Given the description of an element on the screen output the (x, y) to click on. 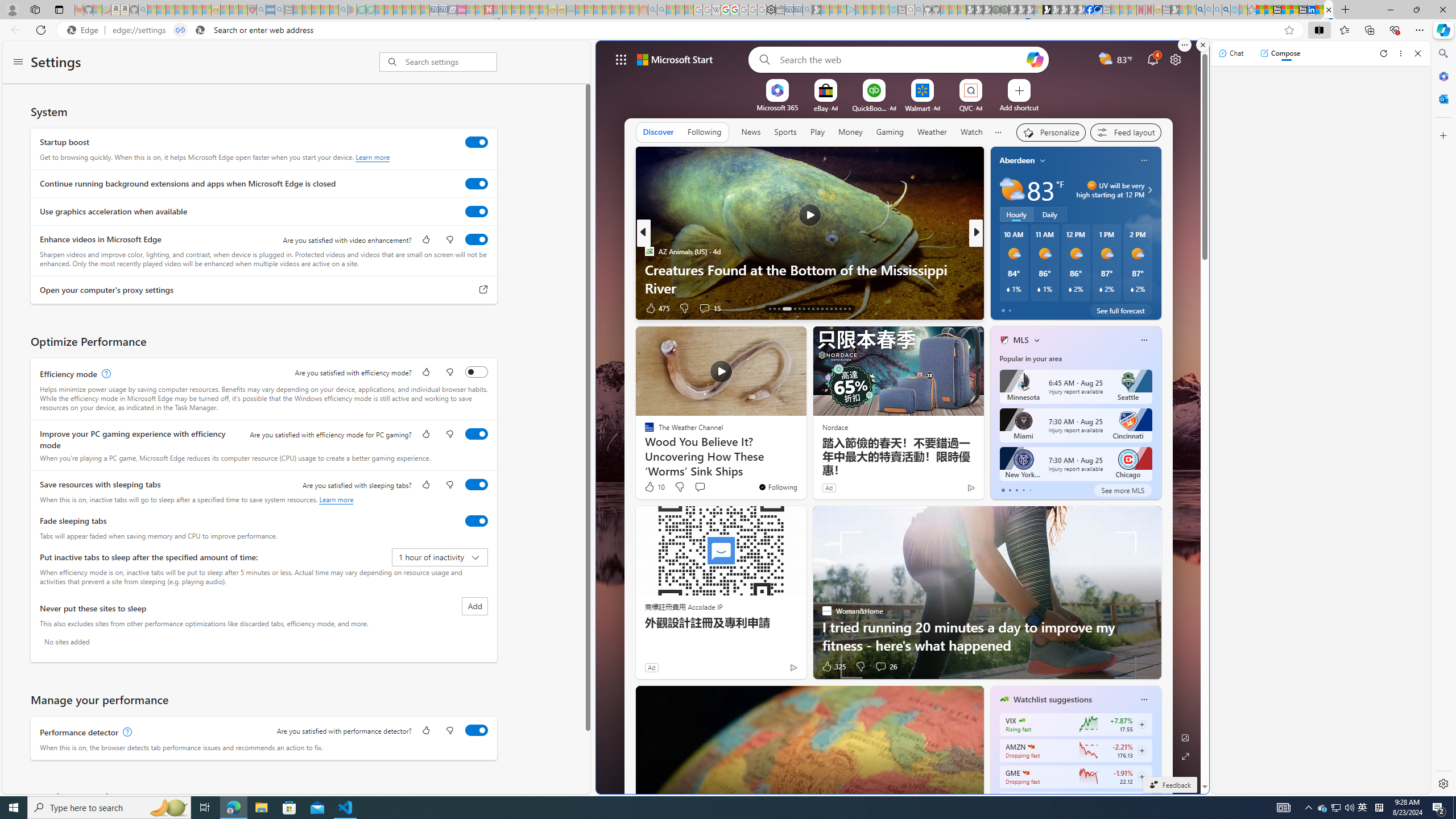
CNN (999, 250)
See full forecast (1120, 310)
207 Like (1007, 307)
Expert Portfolios - Sleeping (606, 9)
Favorites - Sleeping (1251, 9)
